Given the description of an element on the screen output the (x, y) to click on. 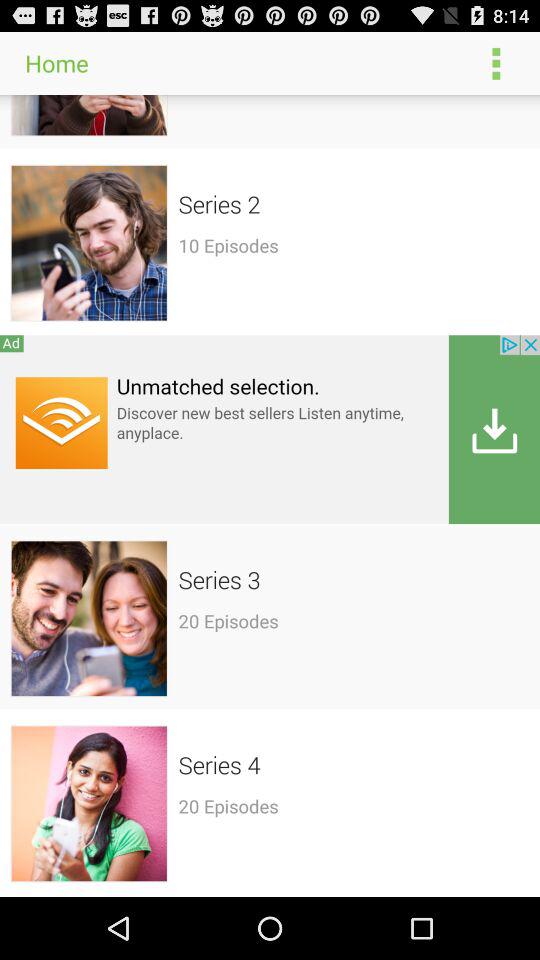
download app (270, 428)
